Given the description of an element on the screen output the (x, y) to click on. 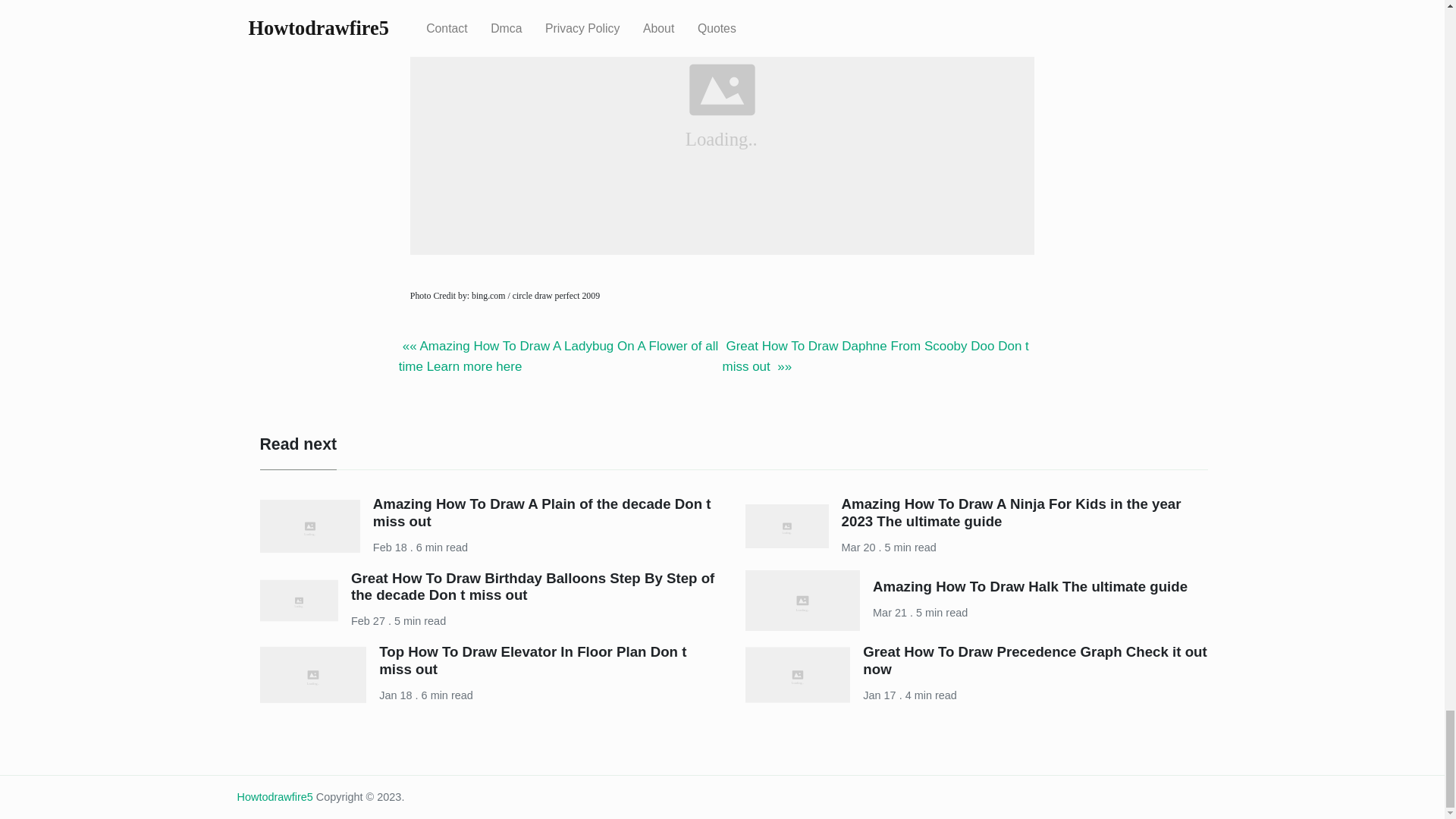
Top How To Draw Elevator In Floor Plan Don t miss out (531, 659)
Howtodrawfire5 (274, 797)
Amazing How To Draw Halk The ultimate guide (1030, 586)
Great How To Draw Precedence Graph Check it out now (1035, 659)
Amazing How To Draw A Plain of the decade Don t miss out (541, 512)
